Given the description of an element on the screen output the (x, y) to click on. 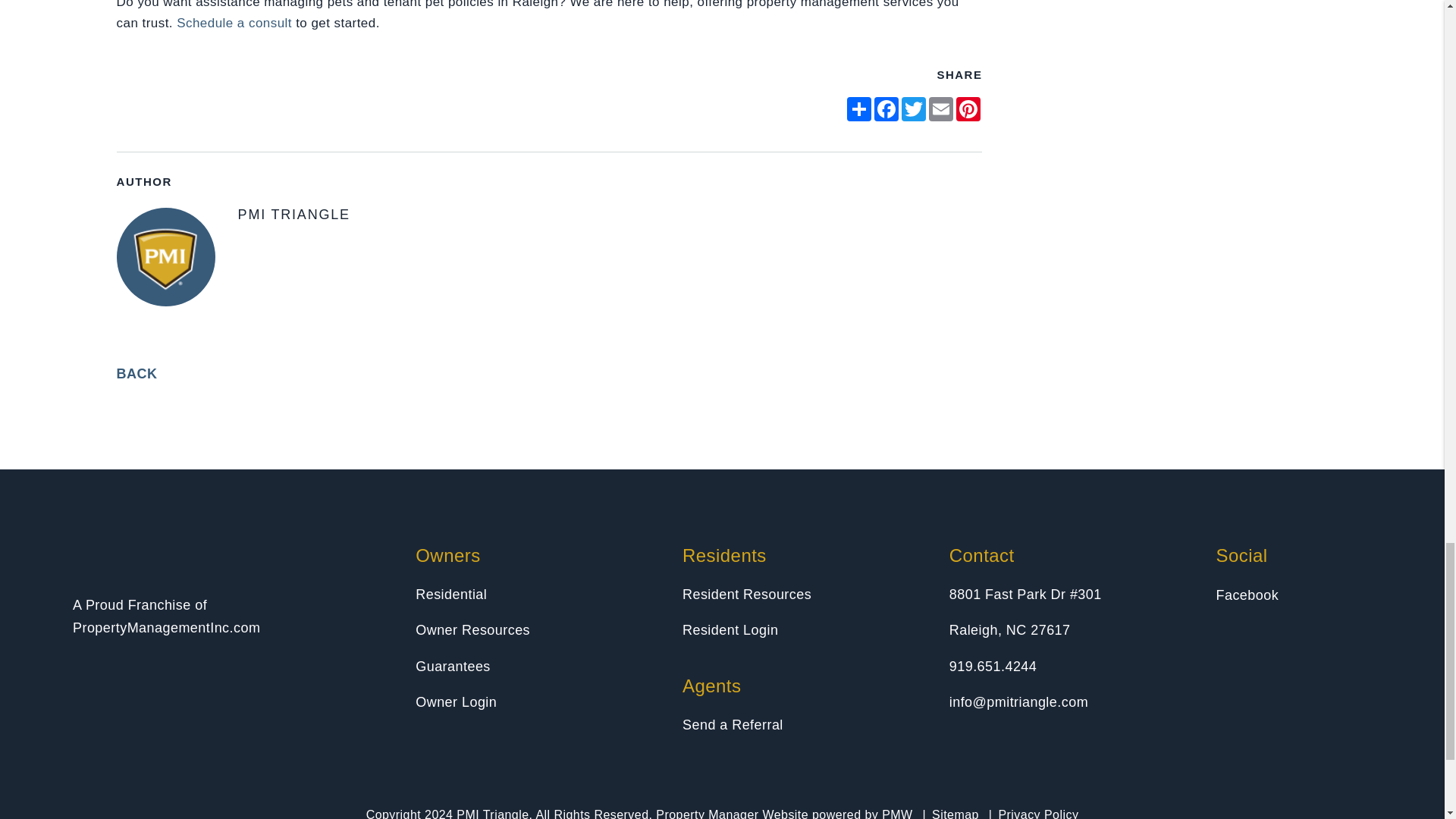
opens in new window (913, 109)
opens in new window (968, 109)
opens in new window (858, 109)
opens in new window (941, 109)
opens in new window (885, 109)
